Given the description of an element on the screen output the (x, y) to click on. 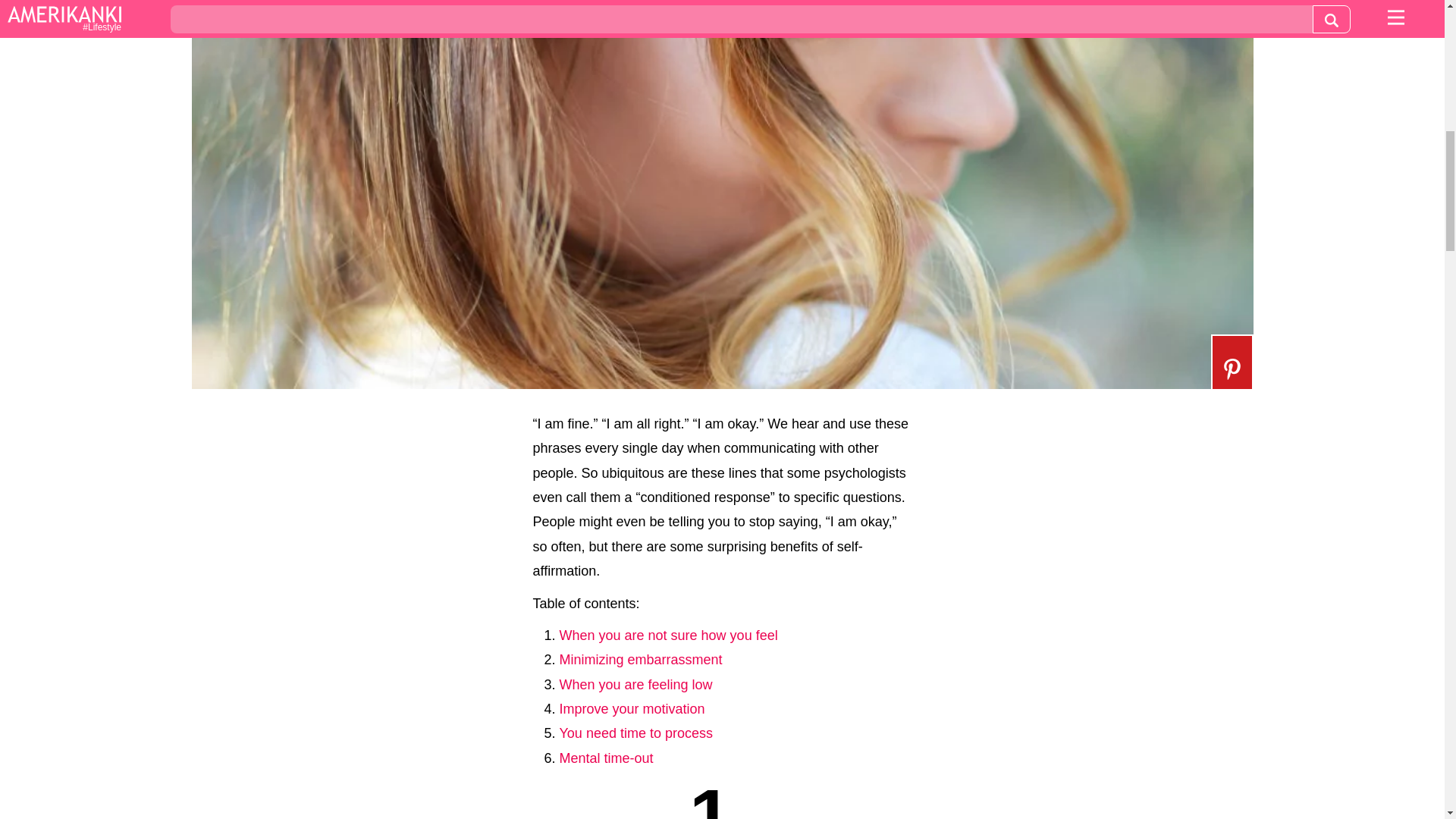
When you are not sure how you feel (668, 635)
Mental time-out (606, 758)
Improve your motivation (631, 708)
When you are feeling low (636, 684)
You need time to process (636, 733)
Minimizing embarrassment (640, 659)
